Given the description of an element on the screen output the (x, y) to click on. 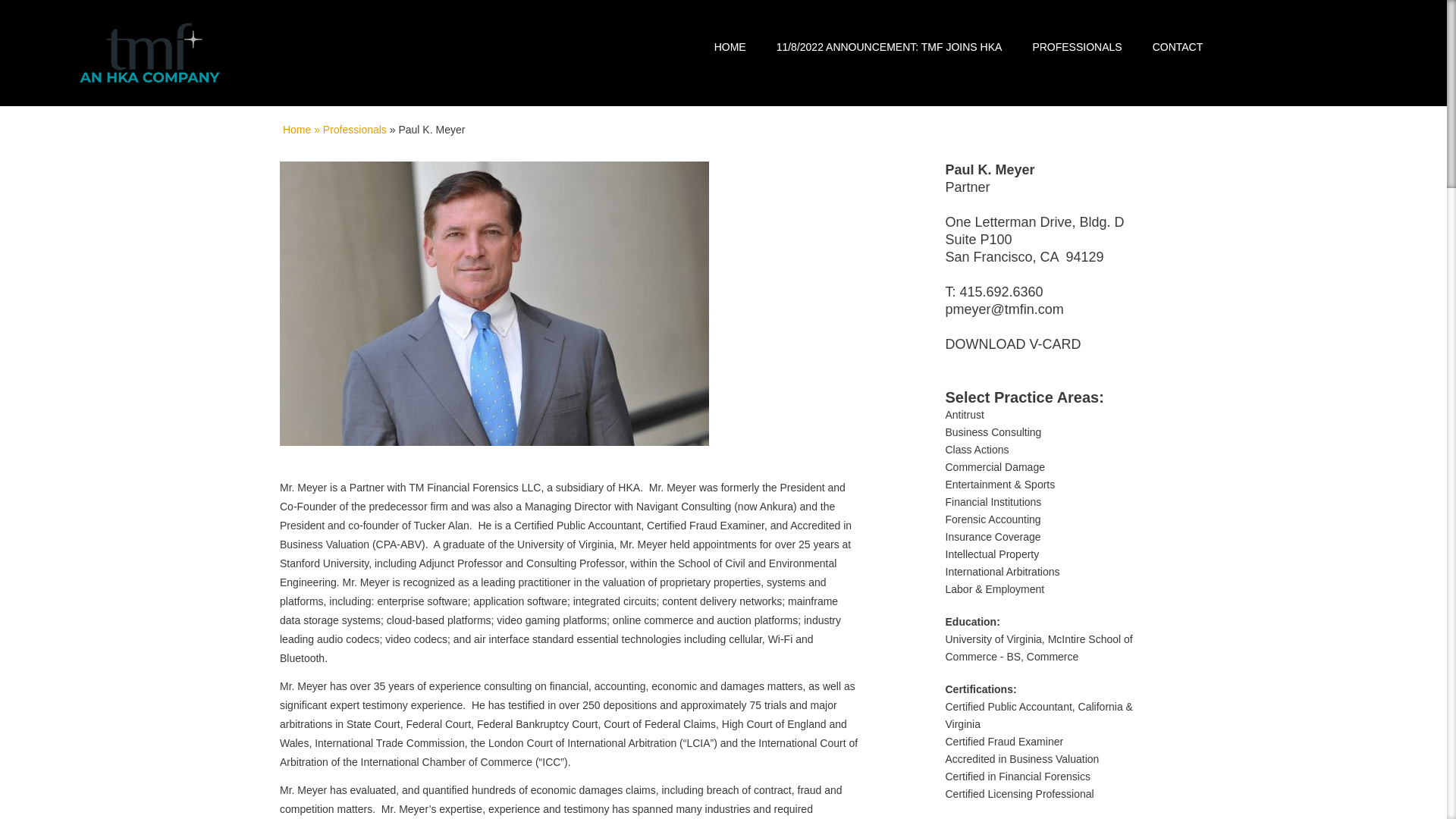
415.692.6360 (1001, 291)
CONTACT (1177, 46)
Click to Edit the Contents of this Area (1001, 291)
Click to Edit the Contents of this Area (988, 169)
HOME (729, 46)
DOWNLOAD V-CARD (1012, 344)
Click to Edit the Contents of this Area (967, 309)
PROFESSIONALS (1076, 46)
Click to Edit the Contents of this Area (967, 186)
Professionals (355, 129)
